Given the description of an element on the screen output the (x, y) to click on. 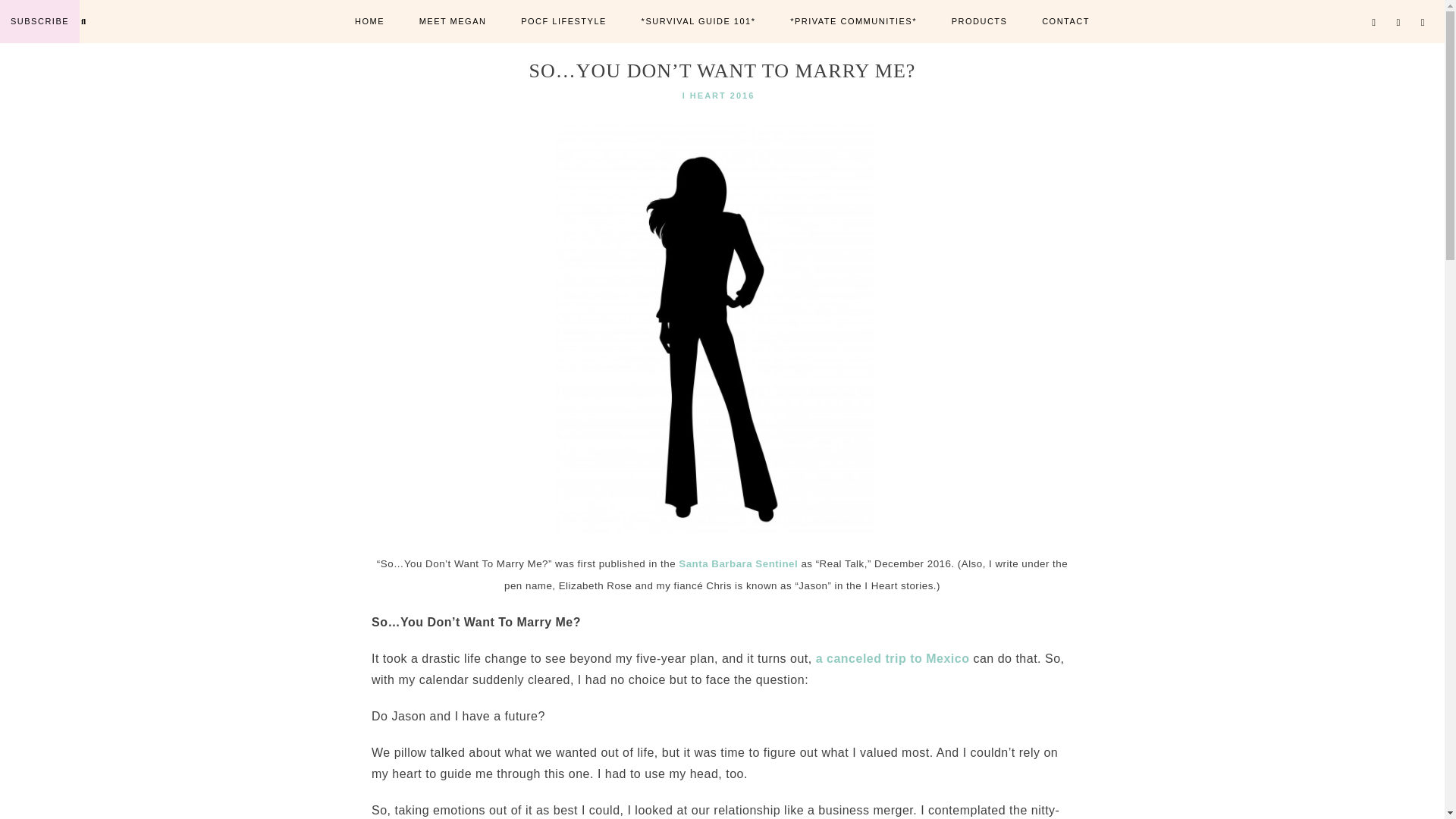
Santa Barbara Sentinel (737, 563)
HOME (369, 21)
SUBSCRIBE (40, 21)
a canceled trip to Mexico (892, 658)
PRODUCTS (979, 21)
I HEART 2016 (718, 94)
MEET MEGAN (452, 21)
CONTACT (1065, 21)
POCF LIFESTYLE (564, 21)
